Given the description of an element on the screen output the (x, y) to click on. 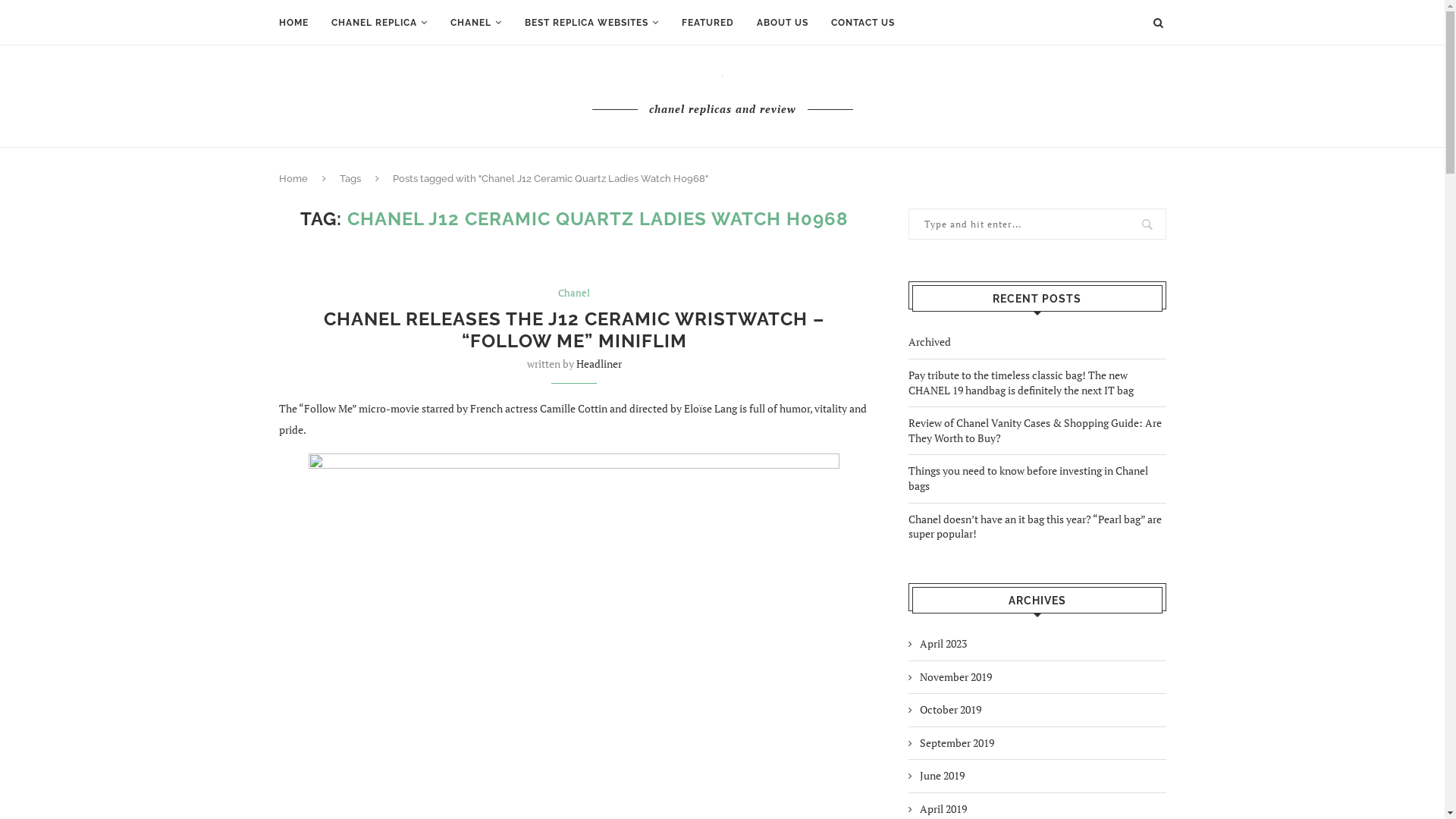
April 2019 Element type: text (937, 808)
HOME Element type: text (293, 22)
Archived Element type: text (929, 341)
Things you need to know before investing in Chanel bags Element type: text (1028, 477)
Best-selling replica jewelry at elog.io Element type: hover (573, 254)
ABOUT US Element type: text (782, 22)
October 2019 Element type: text (944, 709)
June 2019 Element type: text (936, 775)
CHANEL Element type: text (476, 22)
November 2019 Element type: text (949, 676)
Chanel Element type: text (573, 293)
FEATURED Element type: text (706, 22)
April 2023 Element type: text (937, 643)
BEST REPLICA WEBSITES Element type: text (591, 22)
Home Element type: text (293, 178)
Headliner Element type: text (598, 363)
CONTACT US Element type: text (862, 22)
September 2019 Element type: text (951, 742)
CHANEL REPLICA Element type: text (378, 22)
